Given the description of an element on the screen output the (x, y) to click on. 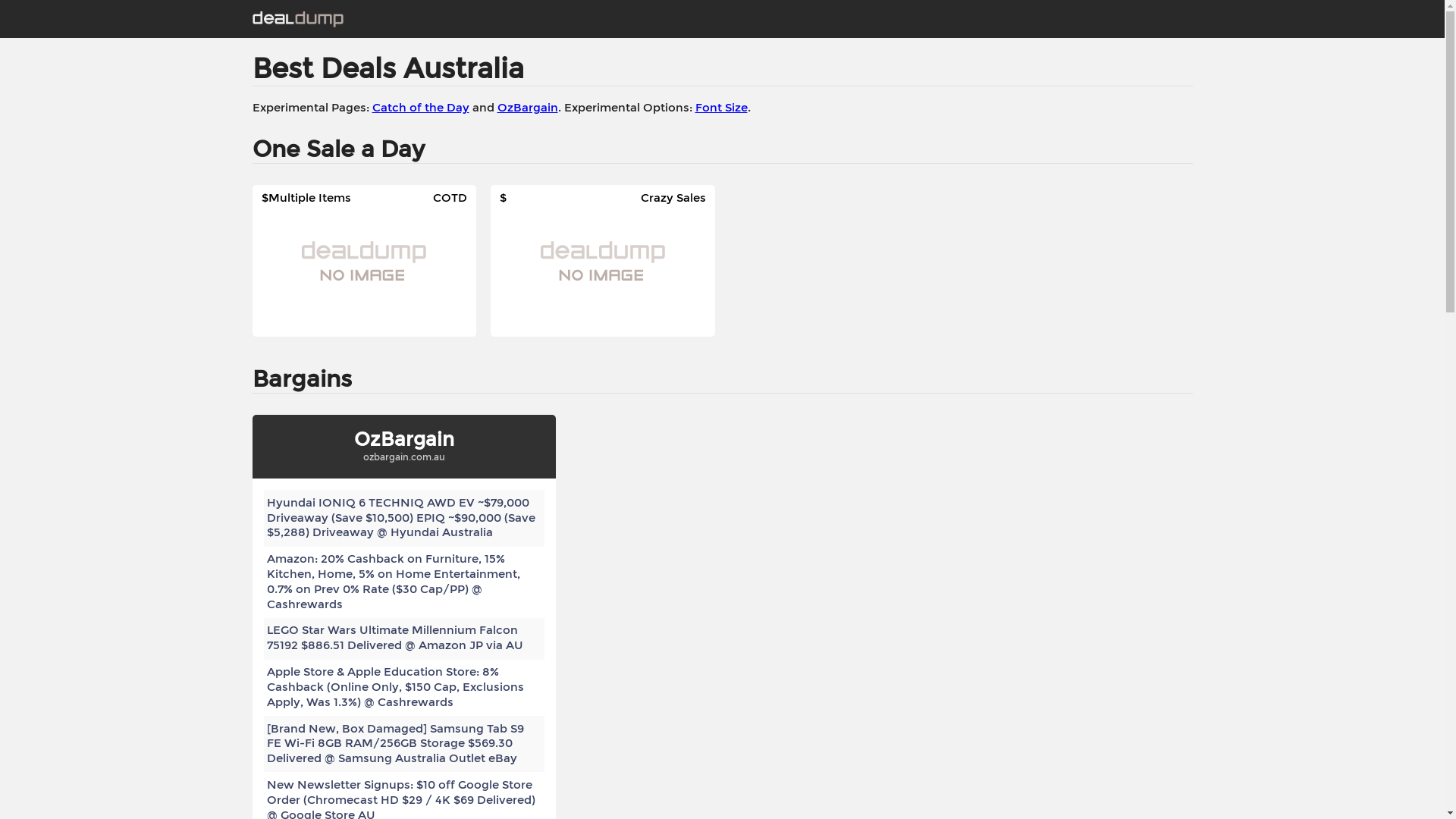
Font Size Element type: text (720, 107)
ozbargain.com.au Element type: text (403, 456)
OzBargain Element type: text (527, 107)
Catch of the Day Element type: text (419, 107)
